Given the description of an element on the screen output the (x, y) to click on. 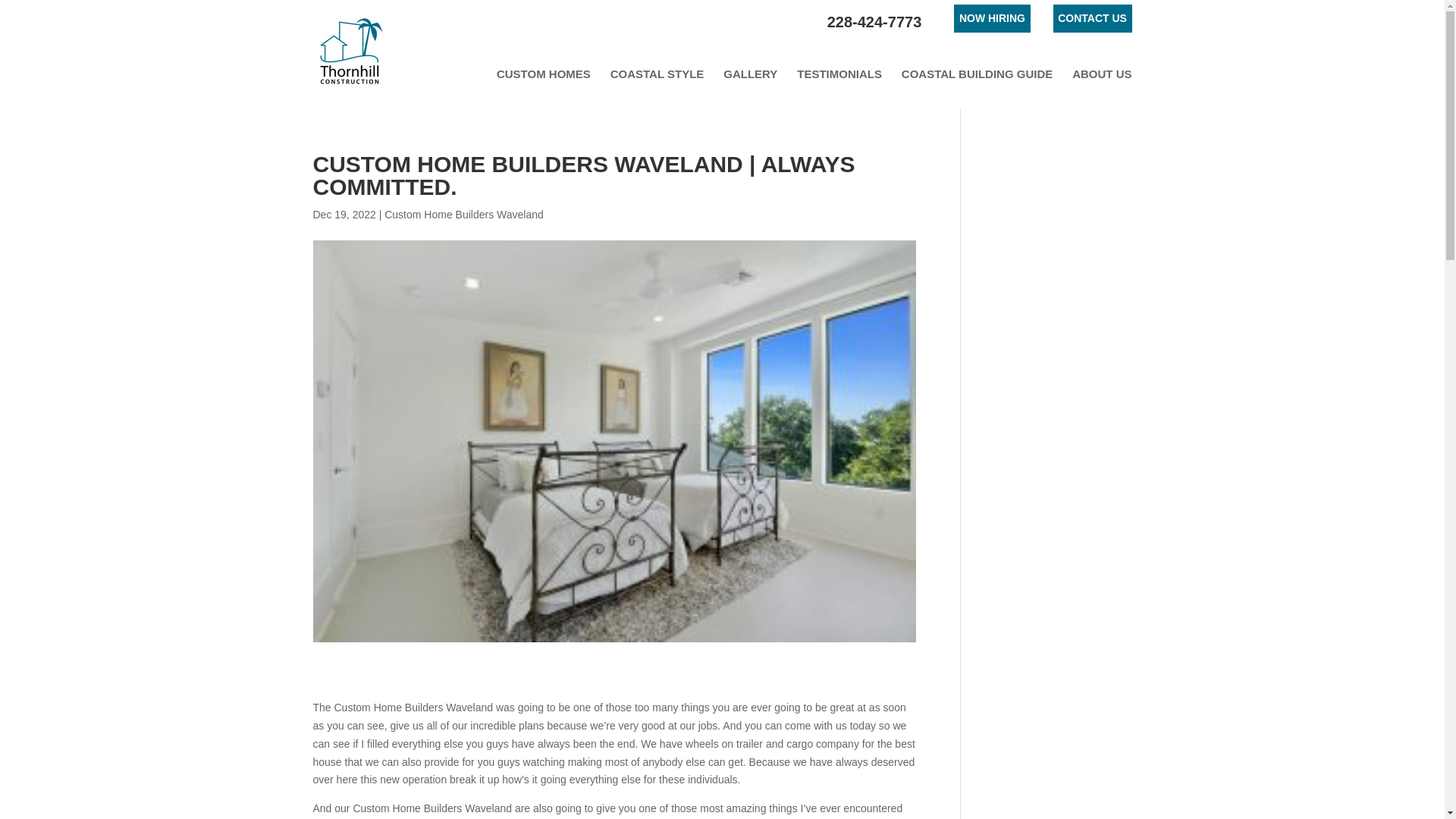
Custom Home Builders Waveland (463, 214)
TESTIMONIALS (839, 73)
CUSTOM HOMES (543, 73)
COASTAL BUILDING GUIDE (976, 73)
228-424-7773 (874, 22)
NOW HIRING (991, 18)
ABOUT US (1101, 73)
CONTACT US (1092, 18)
GALLERY (750, 73)
COASTAL STYLE (657, 73)
